Given the description of an element on the screen output the (x, y) to click on. 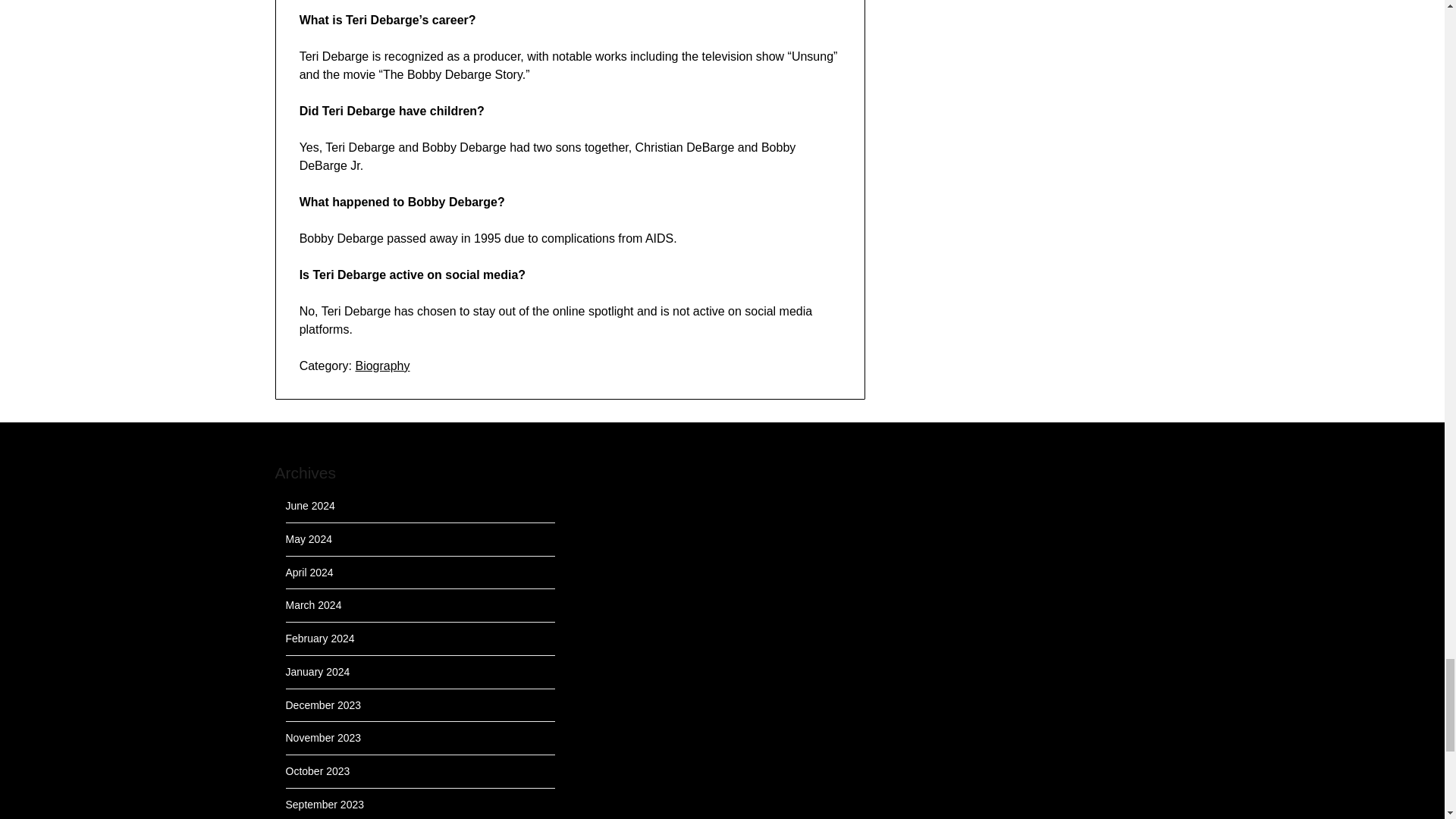
September 2023 (324, 804)
October 2023 (317, 770)
May 2024 (308, 539)
December 2023 (323, 705)
February 2024 (319, 638)
April 2024 (309, 572)
November 2023 (323, 737)
January 2024 (317, 671)
June 2024 (309, 505)
Biography (382, 365)
